Given the description of an element on the screen output the (x, y) to click on. 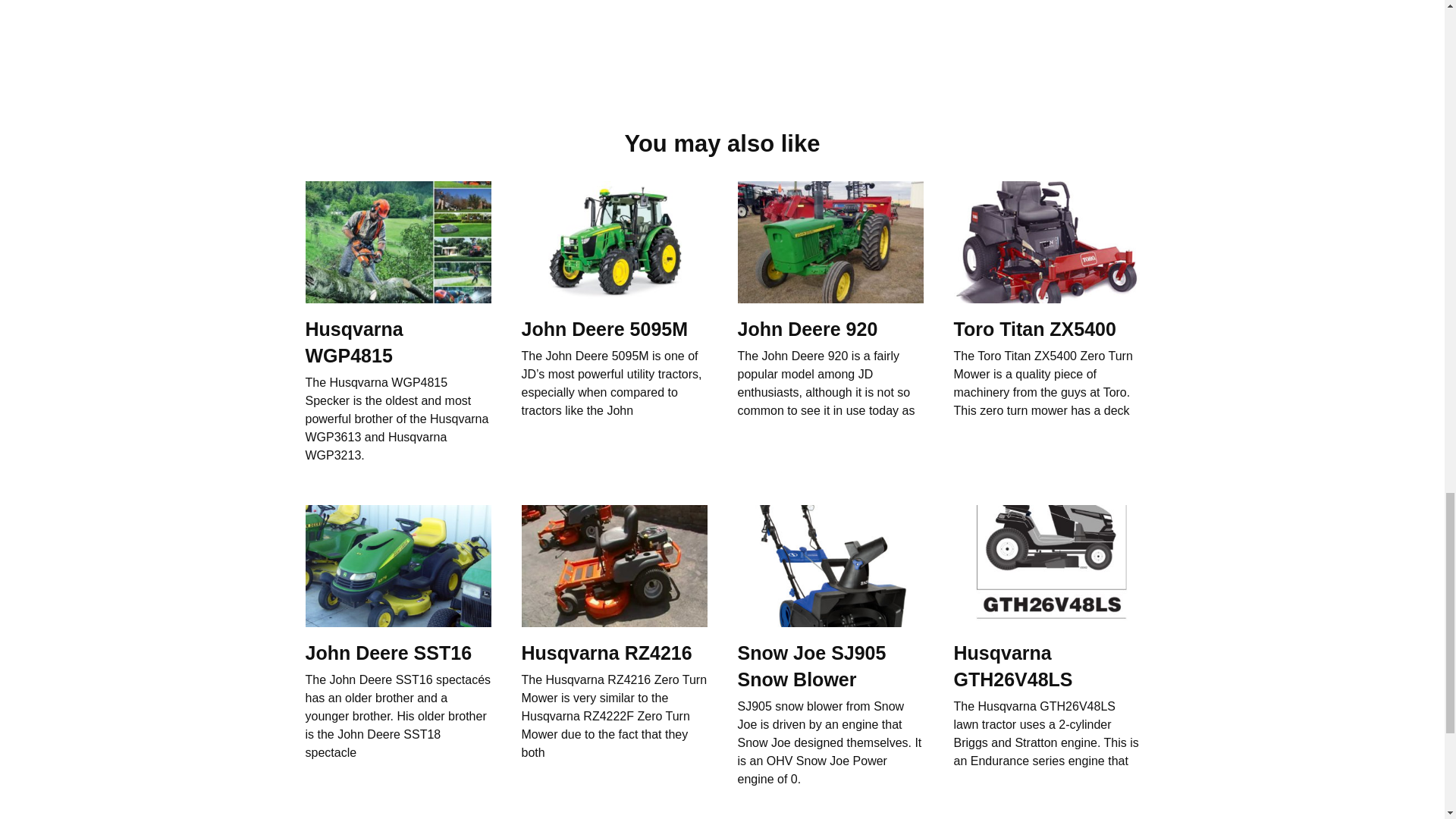
Husqvarna RZ4216 (607, 652)
John Deere 5095M (604, 328)
John Deere 920 (806, 328)
John Deere SST16 (387, 652)
Husqvarna WGP4815 (353, 341)
Snow Joe SJ905 Snow Blower (810, 665)
Toro Titan ZX5400 (1034, 328)
